Given the description of an element on the screen output the (x, y) to click on. 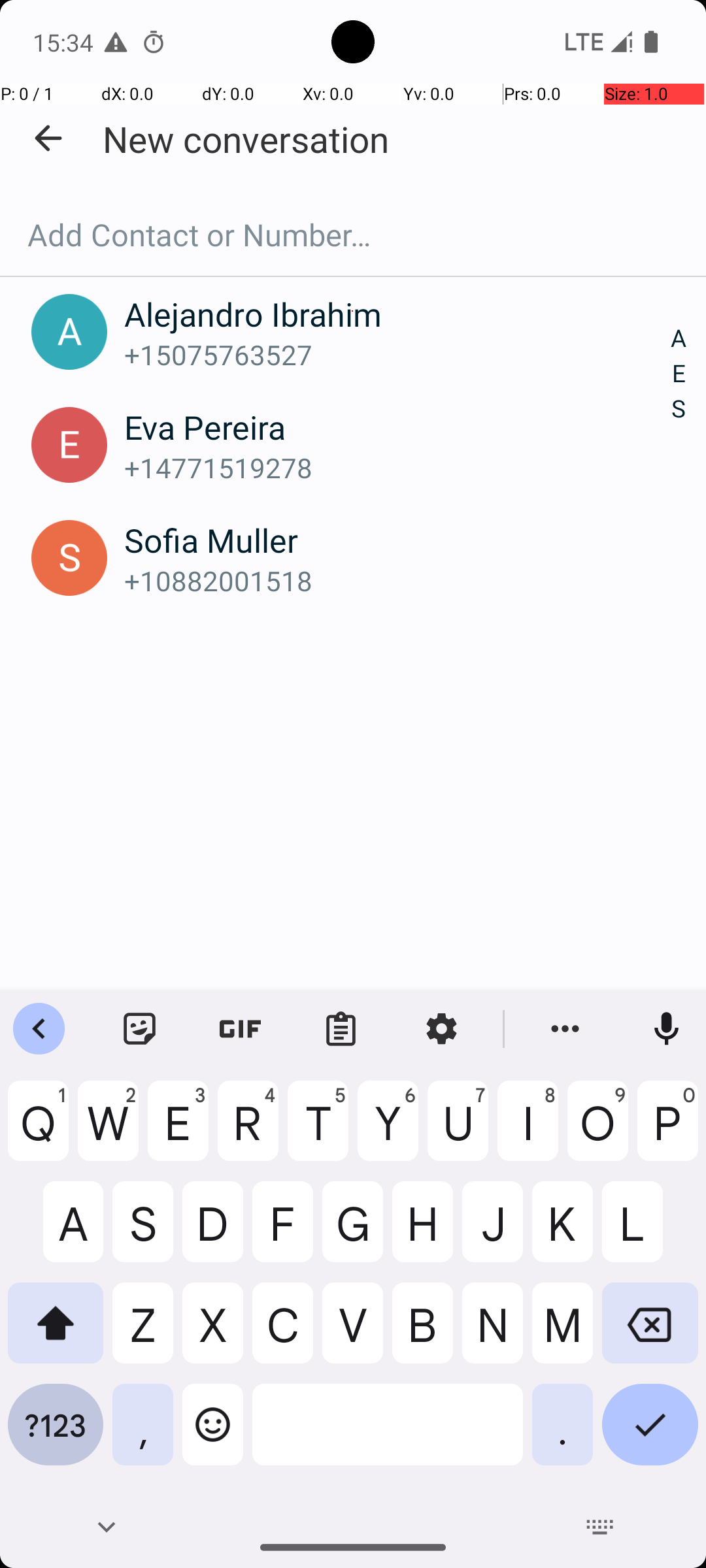
New conversation Element type: android.widget.TextView (245, 138)
Add Contact or Number… Element type: android.widget.EditText (352, 234)
A
E
S Element type: android.widget.TextView (678, 373)
Alejandro Ibrahim Element type: android.widget.TextView (397, 313)
+15075763527 Element type: android.widget.TextView (397, 354)
Eva Pereira Element type: android.widget.TextView (397, 426)
+14771519278 Element type: android.widget.TextView (397, 467)
Sofia Muller Element type: android.widget.TextView (397, 539)
+10882001518 Element type: android.widget.TextView (397, 580)
